Given the description of an element on the screen output the (x, y) to click on. 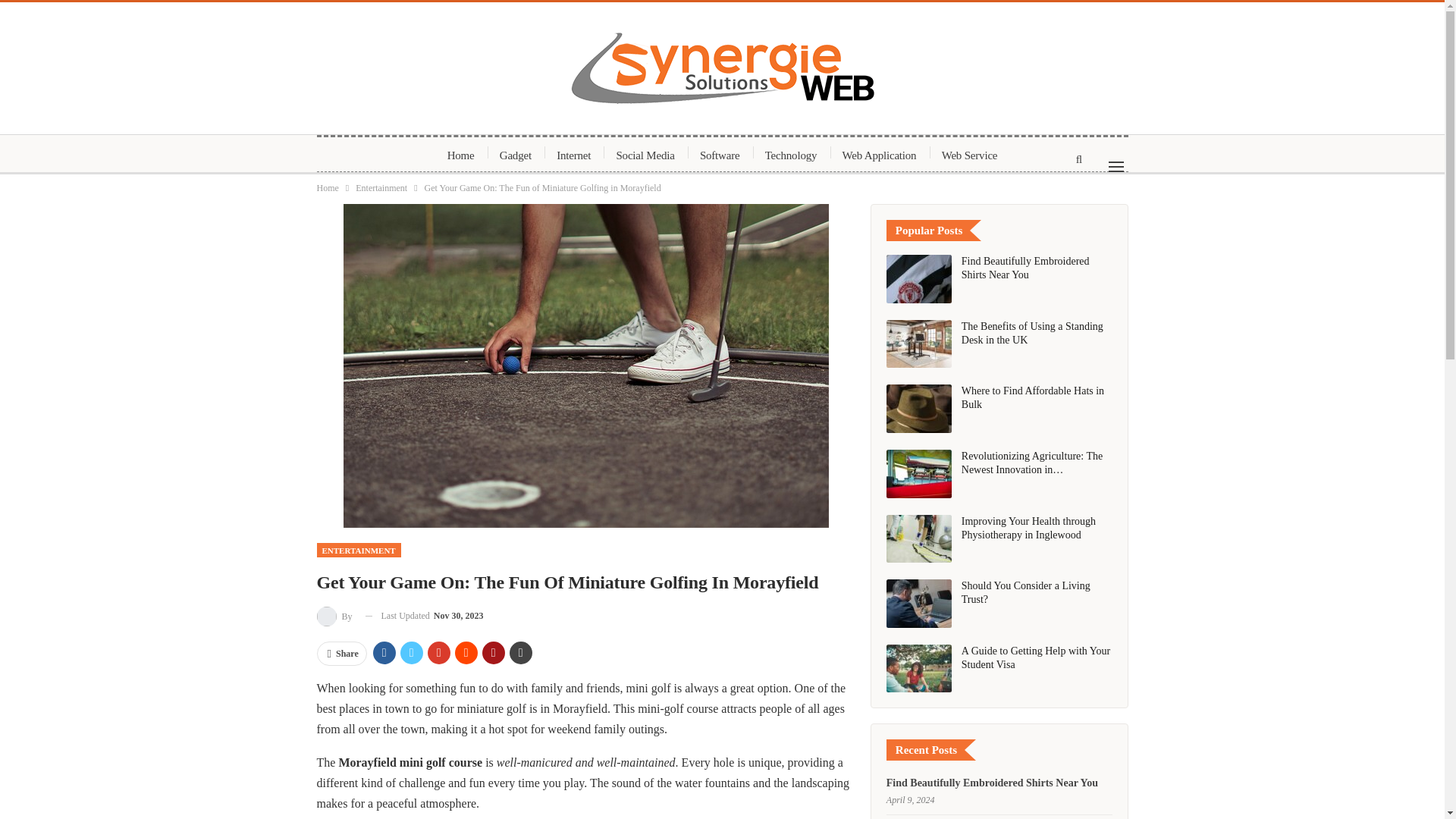
Software (719, 155)
Web Service (969, 155)
Technology (791, 155)
Internet (573, 155)
ENTERTAINMENT (359, 549)
Browse Author Articles (335, 616)
Entertainment (381, 187)
Where to Find Affordable Hats in Bulk (919, 408)
Web Application (879, 155)
Gadget (515, 155)
Home (460, 155)
Home (328, 187)
Find Beautifully Embroidered Shirts Near You (919, 278)
By (335, 616)
